Given the description of an element on the screen output the (x, y) to click on. 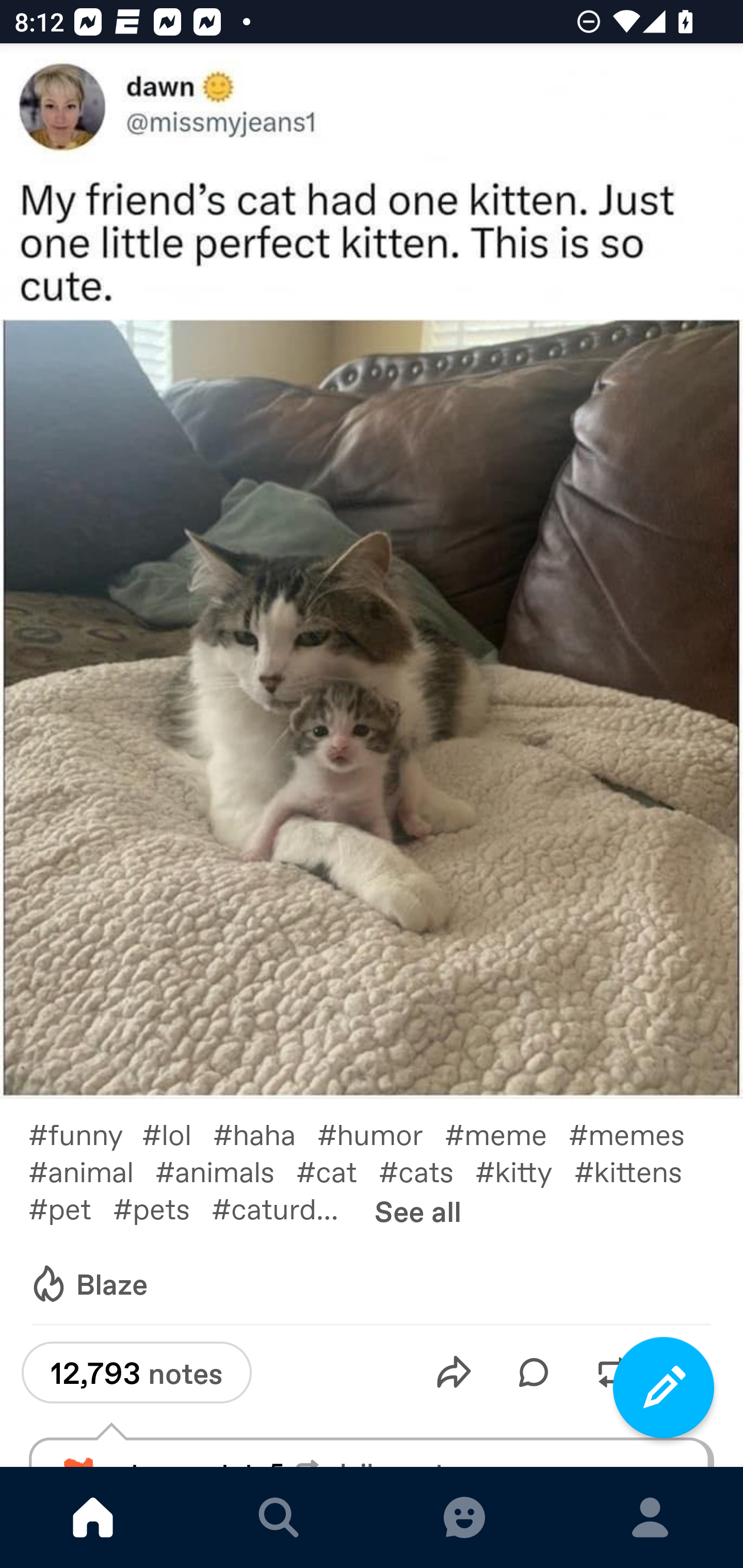
#funny (84, 1133)
#lol (177, 1133)
#haha (265, 1133)
#humor (381, 1133)
#meme (506, 1133)
#memes (637, 1133)
#animal (91, 1171)
#animals (225, 1171)
#cat (337, 1171)
#cats (426, 1171)
#kitty (524, 1171)
#kittens (638, 1171)
#pet (70, 1208)
#pets (161, 1208)
#caturd… (285, 1208)
See all (417, 1211)
Blaze Blaze Blaze (88, 1283)
Share post to message (454, 1371)
Reply (533, 1371)
Compose a new post (663, 1387)
12,793 notes (136, 1372)
DASHBOARD (92, 1517)
EXPLORE (278, 1517)
MESSAGES (464, 1517)
ACCOUNT (650, 1517)
